Given the description of an element on the screen output the (x, y) to click on. 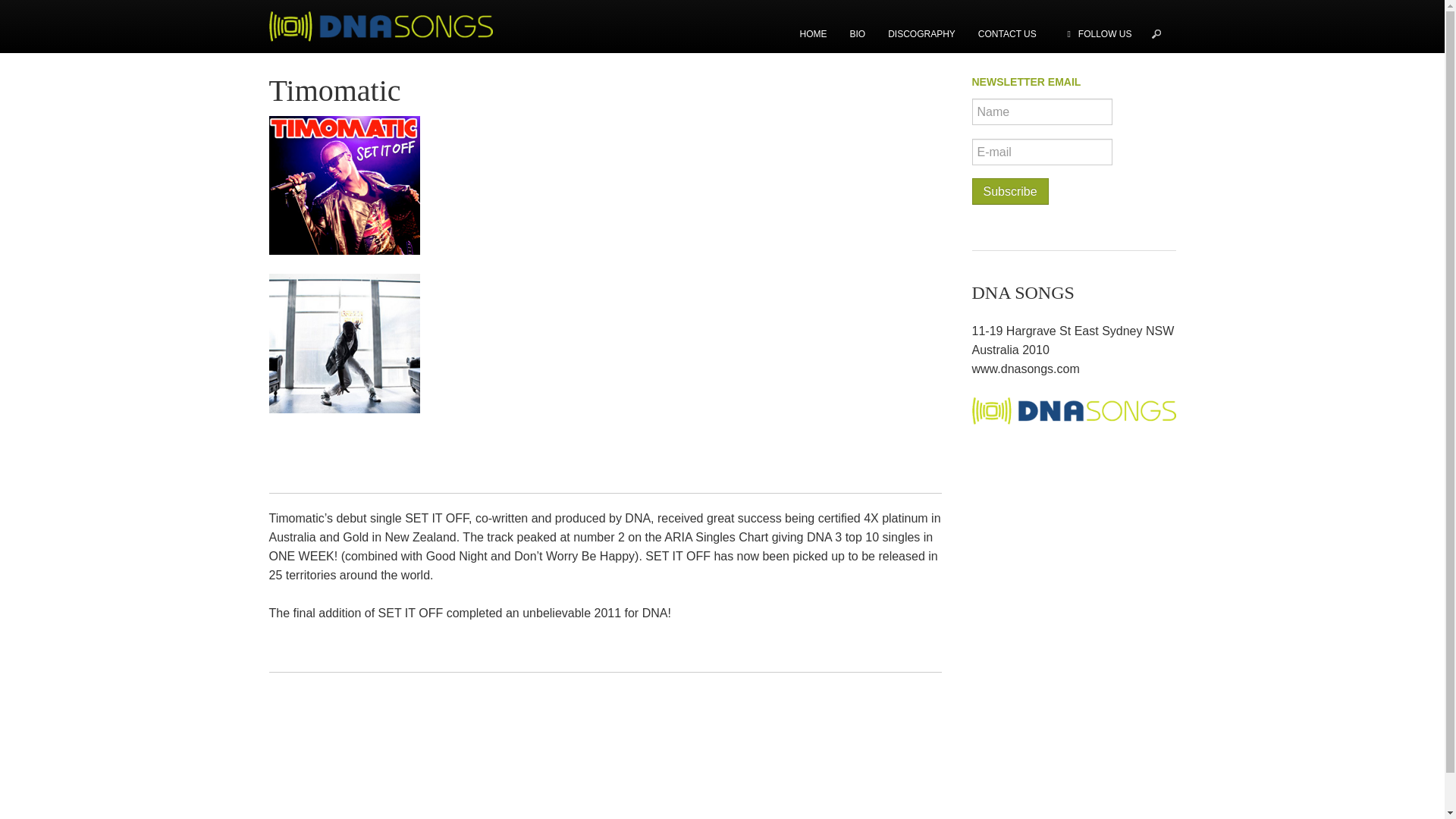
DISCOGRAPHY (921, 26)
Subscribe (1010, 191)
DNA SONGS (386, 25)
Timomatic (333, 90)
Subscribe (1010, 191)
HOME (813, 26)
Name (1042, 111)
FOLLOW US (1098, 26)
CONTACT US (1007, 26)
E-mail (1042, 151)
